Given the description of an element on the screen output the (x, y) to click on. 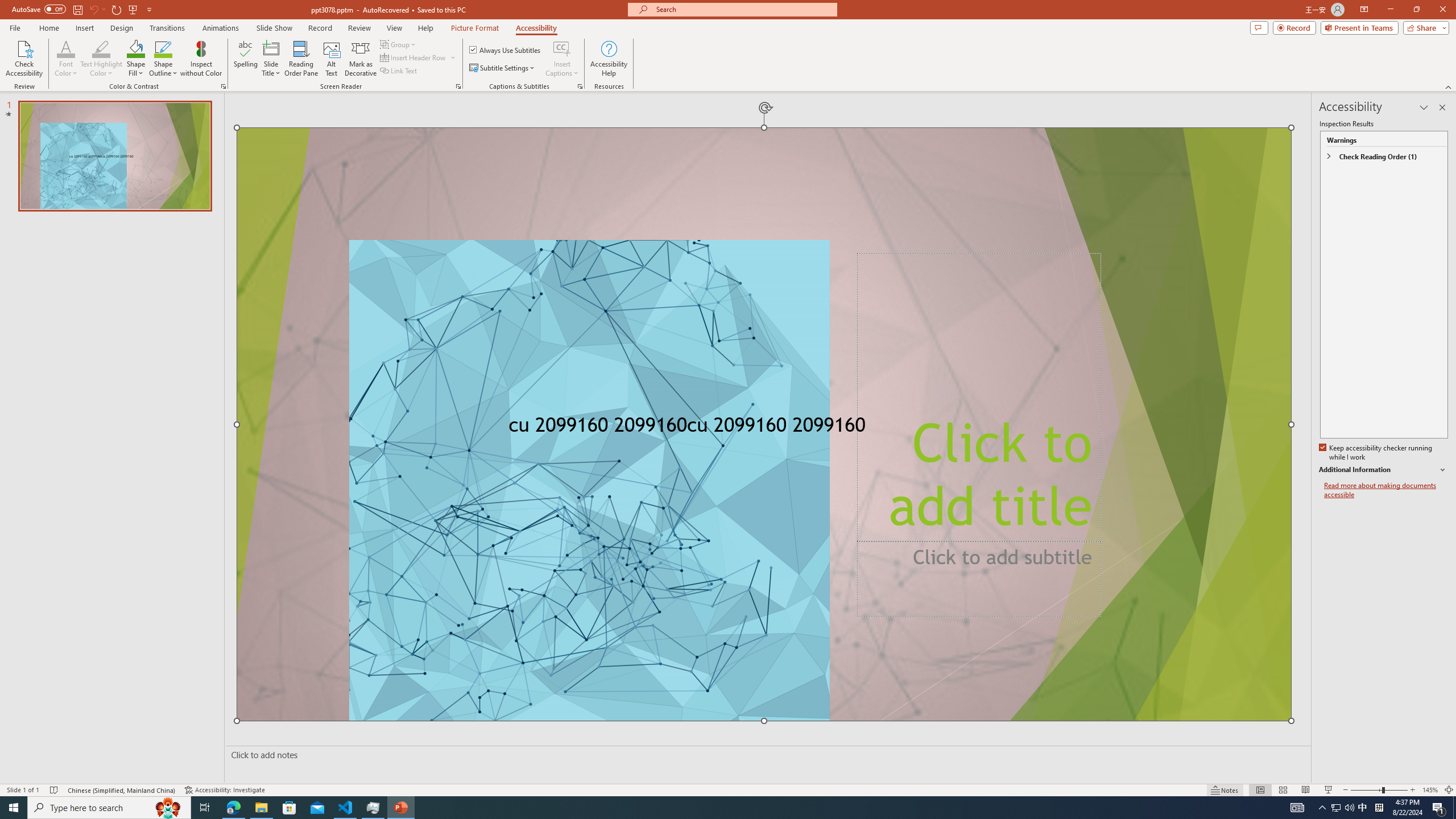
Always Use Subtitles (505, 49)
